Given the description of an element on the screen output the (x, y) to click on. 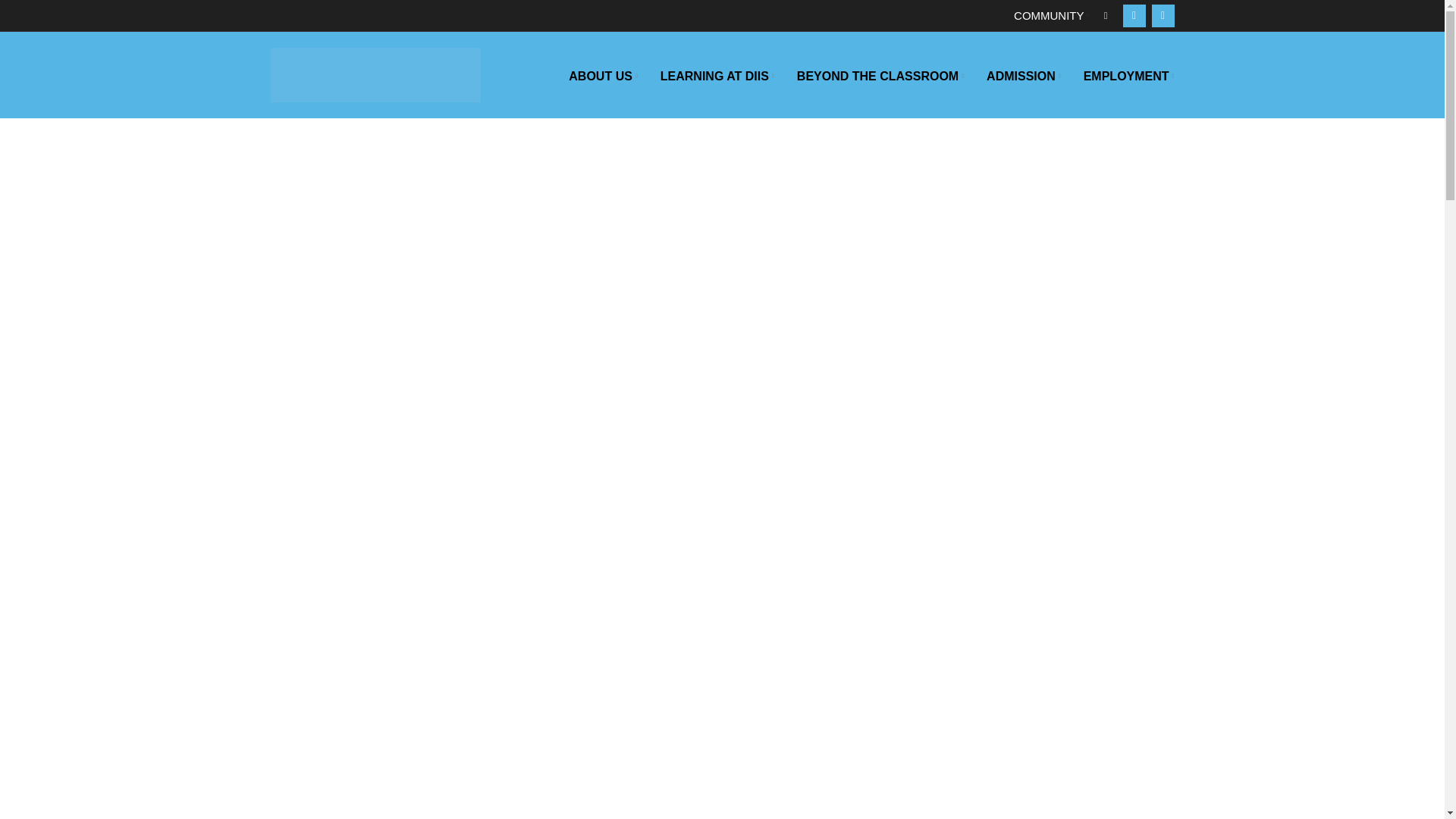
LEARNING AT DIIS (717, 75)
ABOUT US (602, 75)
COMMUNITY (1050, 15)
